Given the description of an element on the screen output the (x, y) to click on. 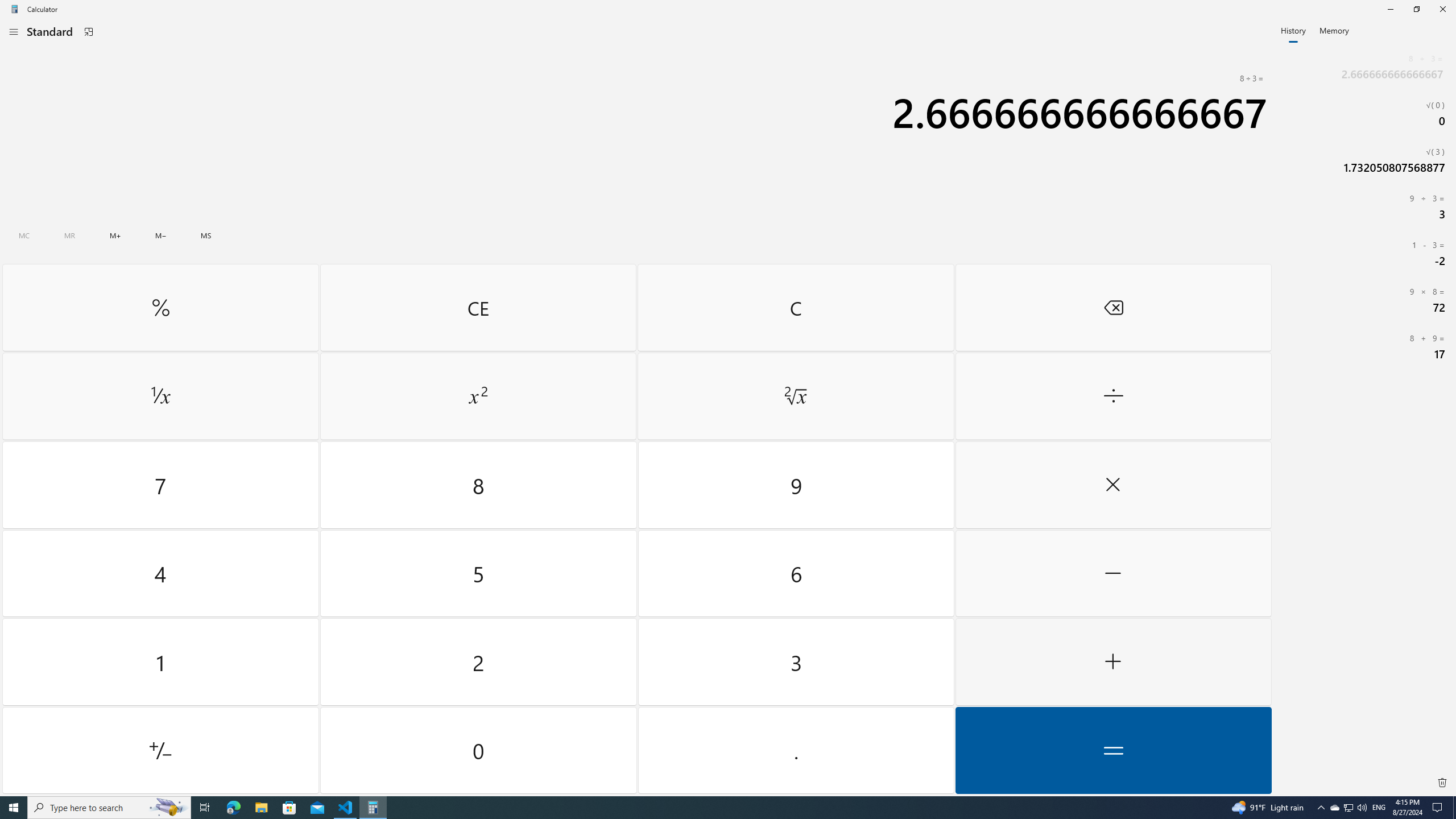
Action Center, No new notifications (1439, 807)
Restore Calculator (1416, 9)
One (160, 661)
Close Calculator (1442, 9)
Microsoft Edge (233, 807)
Plus (1113, 661)
Memory store (206, 235)
1 Minus ( 3= Minus (2 (1364, 253)
Multiply by (1113, 485)
Clear all memory (24, 235)
Notification Chevron (1320, 807)
Divide by (1113, 396)
Keep on top (88, 31)
